Given the description of an element on the screen output the (x, y) to click on. 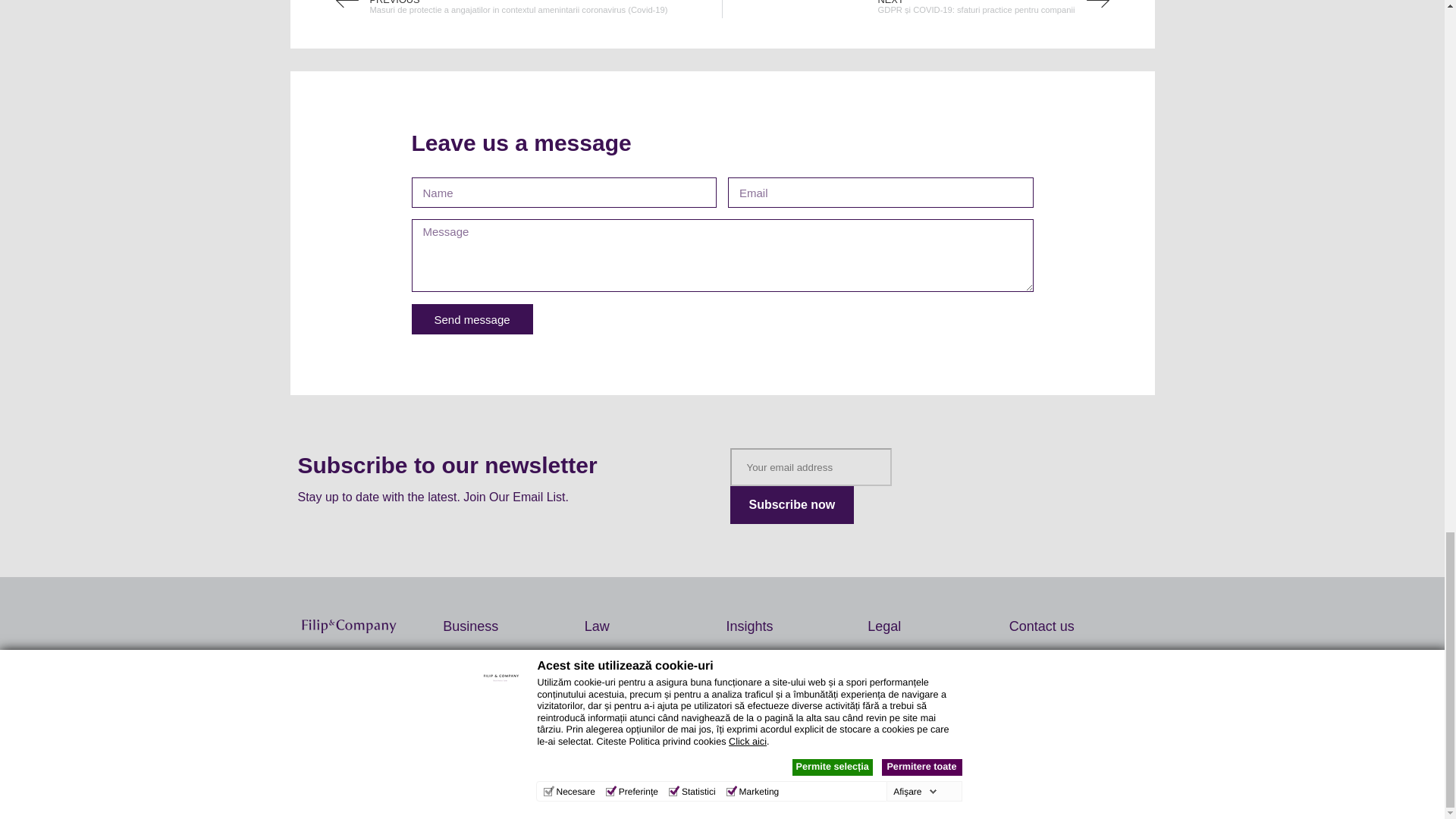
Subscribe now (791, 505)
